Given the description of an element on the screen output the (x, y) to click on. 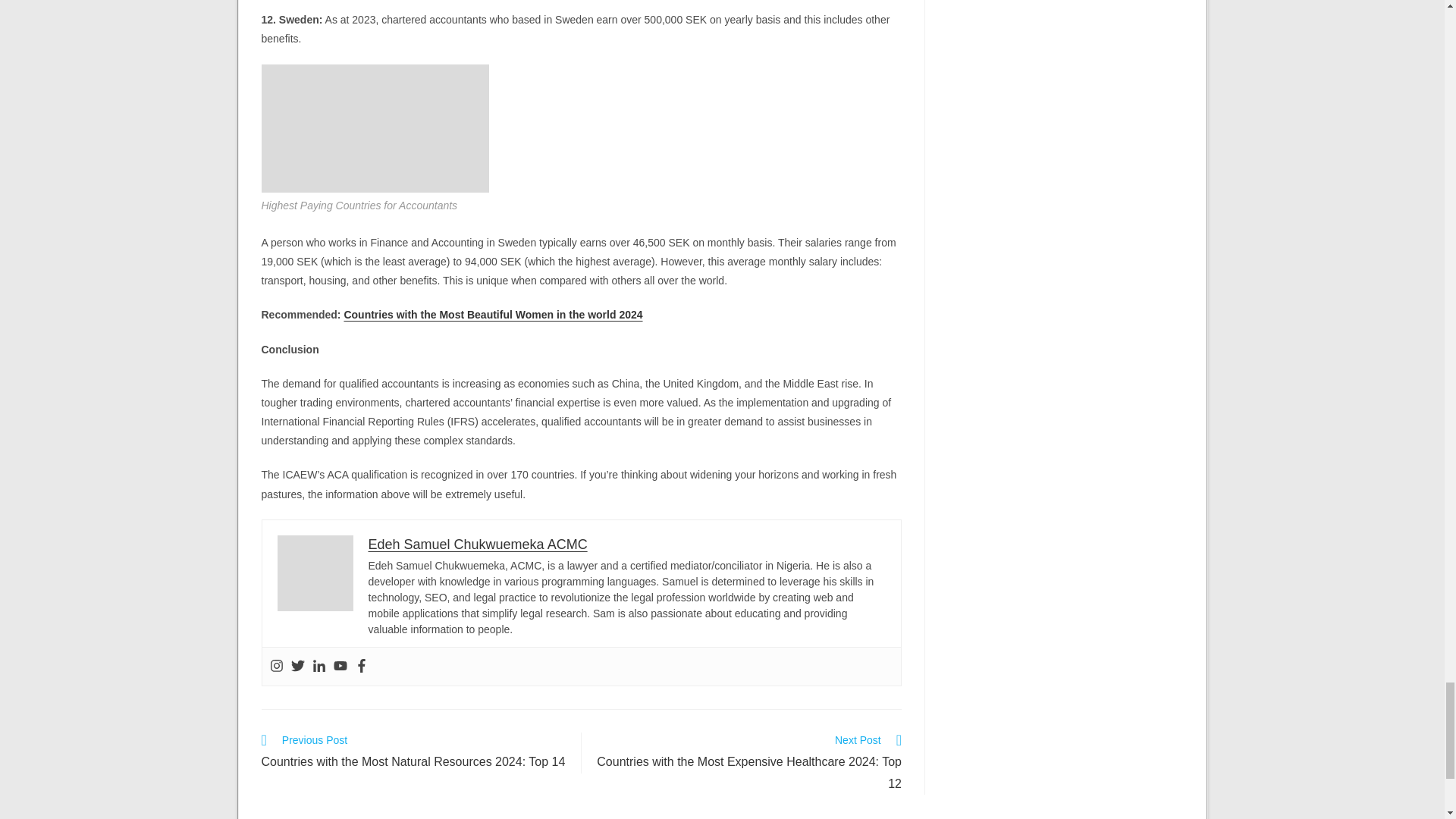
Edeh Samuel Chukwuemeka ACMC (478, 544)
Linkedin (319, 666)
Facebook (361, 666)
Twitter (297, 666)
Youtube (340, 666)
Countries with the Most Beautiful Women in the world 2024 (492, 314)
Instagram (276, 666)
